Given the description of an element on the screen output the (x, y) to click on. 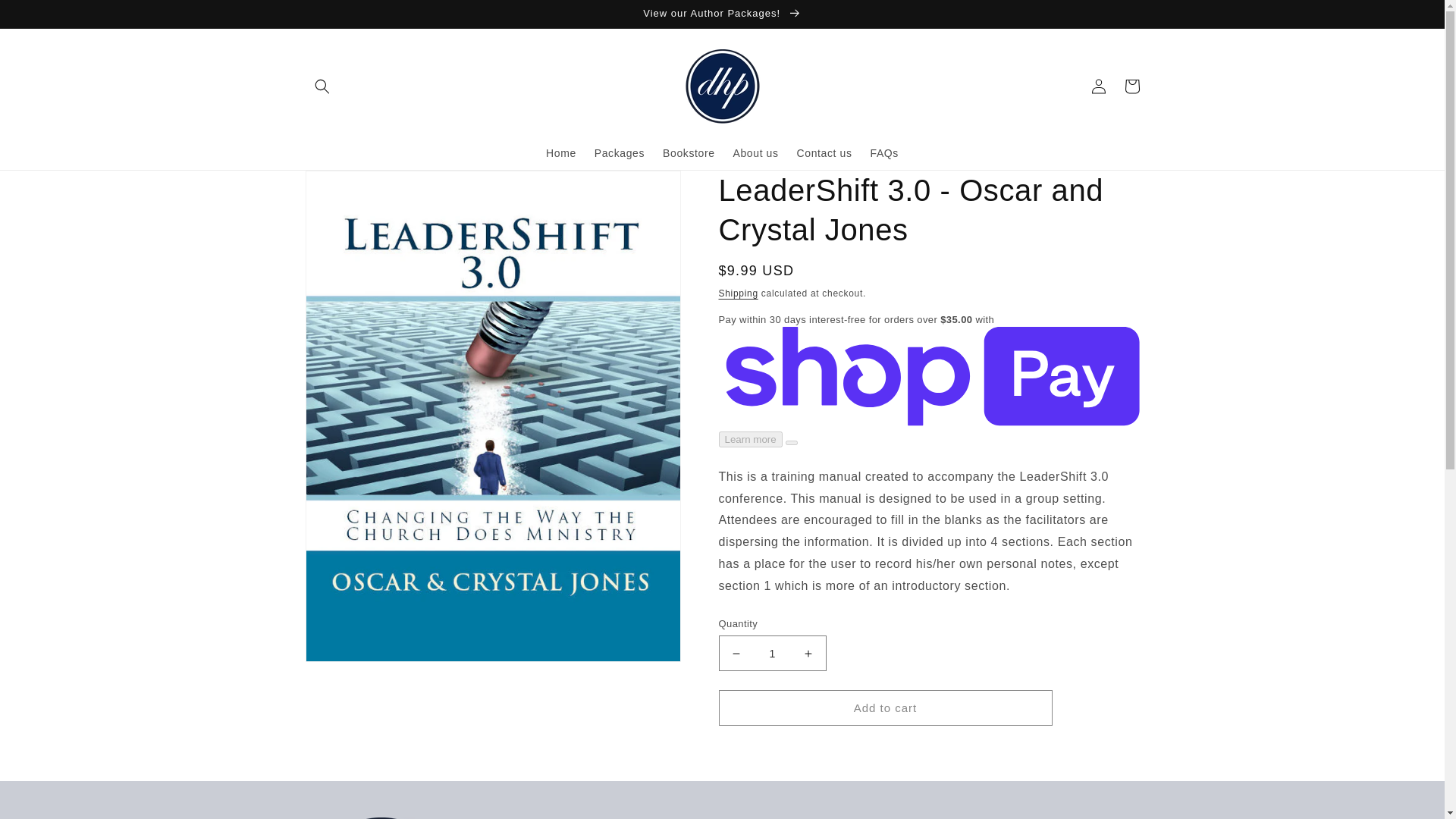
About us (755, 152)
Contact us (824, 152)
Log in (1098, 86)
Packages (619, 152)
Skip to content (45, 17)
Home (561, 152)
Cart (1131, 86)
Add to cart (885, 707)
Shipping (738, 293)
FAQs (884, 152)
1 (773, 652)
Skip to product information (350, 187)
Bookstore (688, 152)
